Given the description of an element on the screen output the (x, y) to click on. 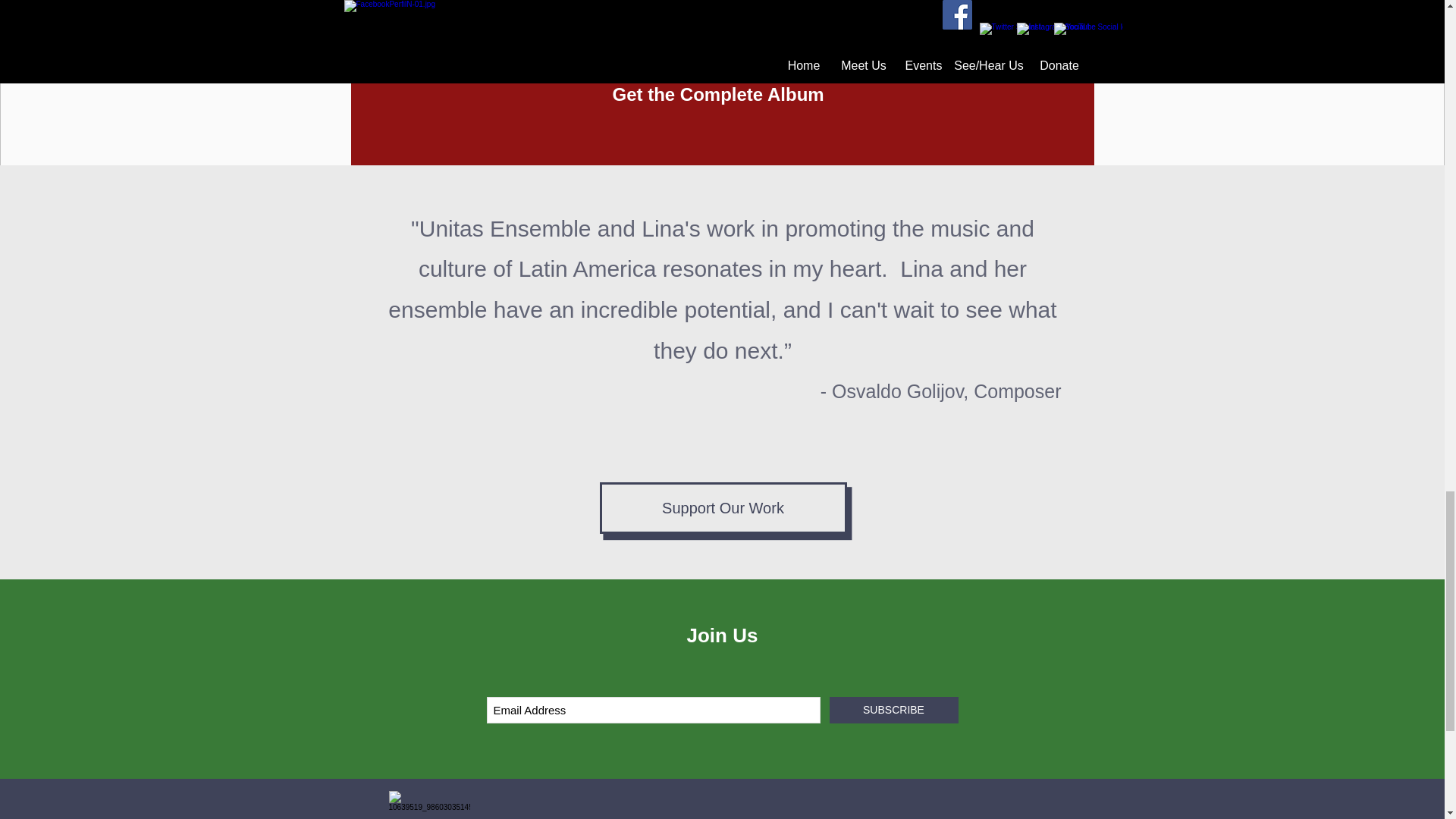
SUBSCRIBE (893, 709)
Support Our Work (721, 507)
